Given the description of an element on the screen output the (x, y) to click on. 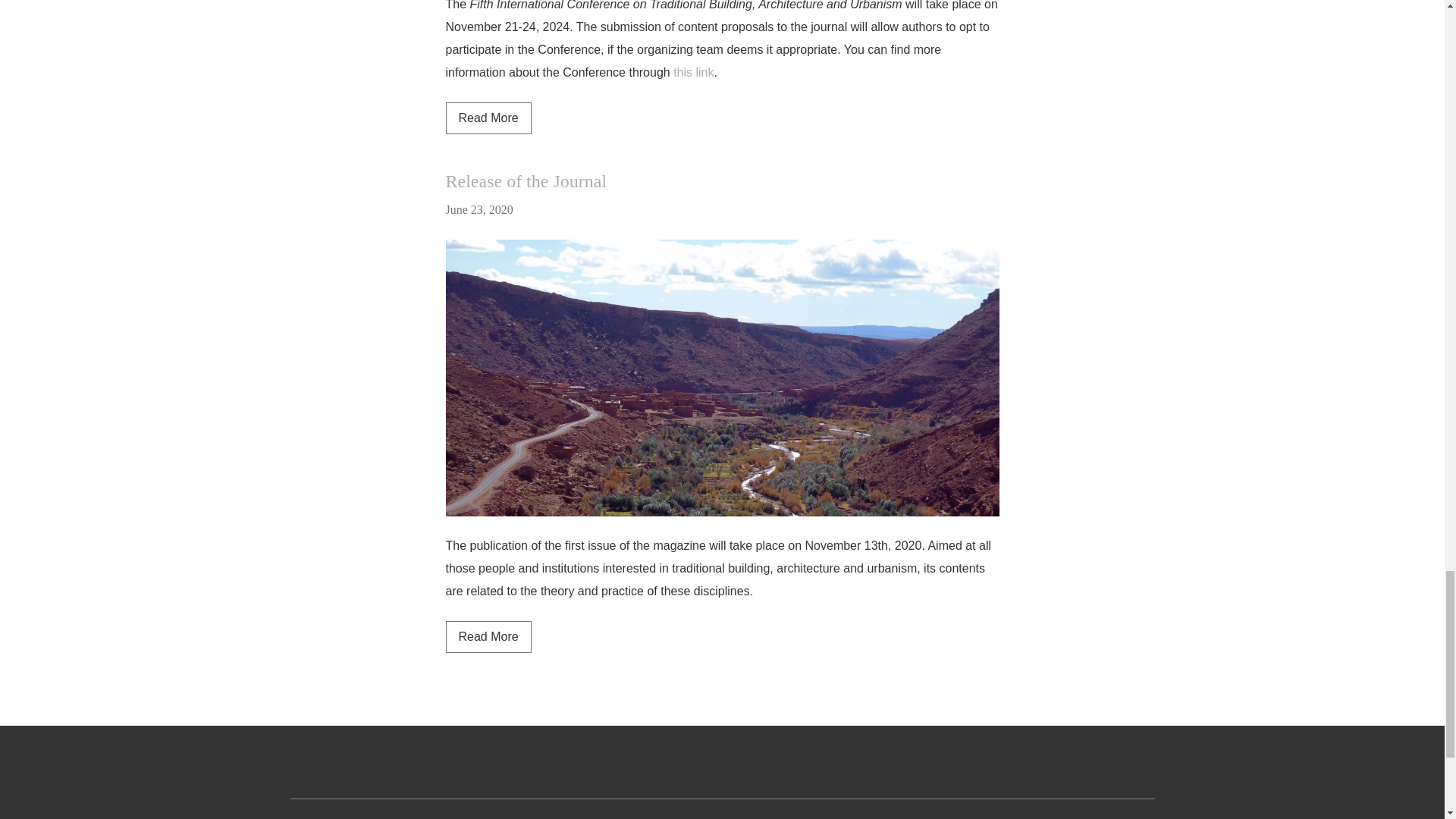
Release of the Journal (526, 180)
this link (488, 118)
